Given the description of an element on the screen output the (x, y) to click on. 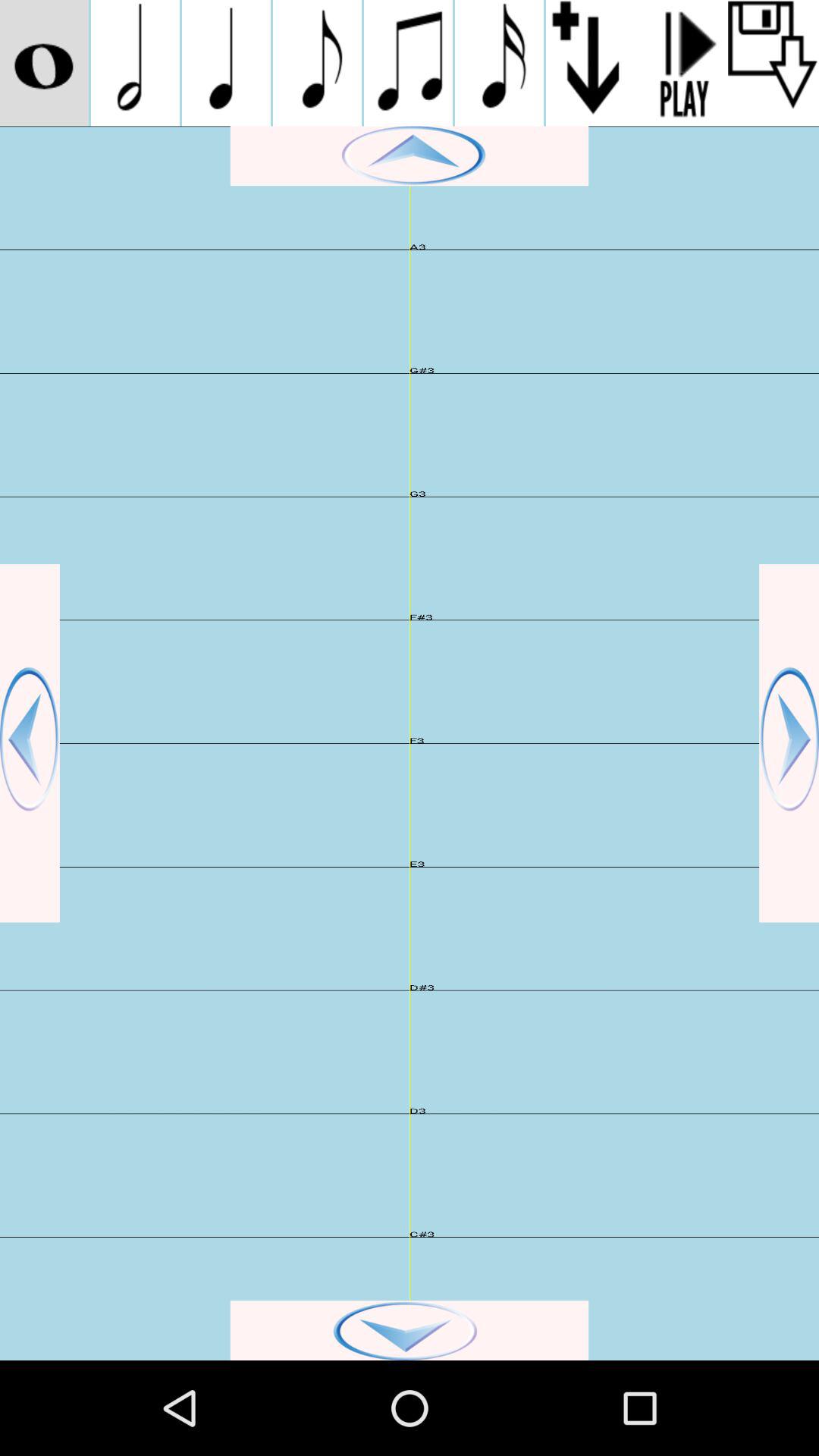
music (226, 63)
